Given the description of an element on the screen output the (x, y) to click on. 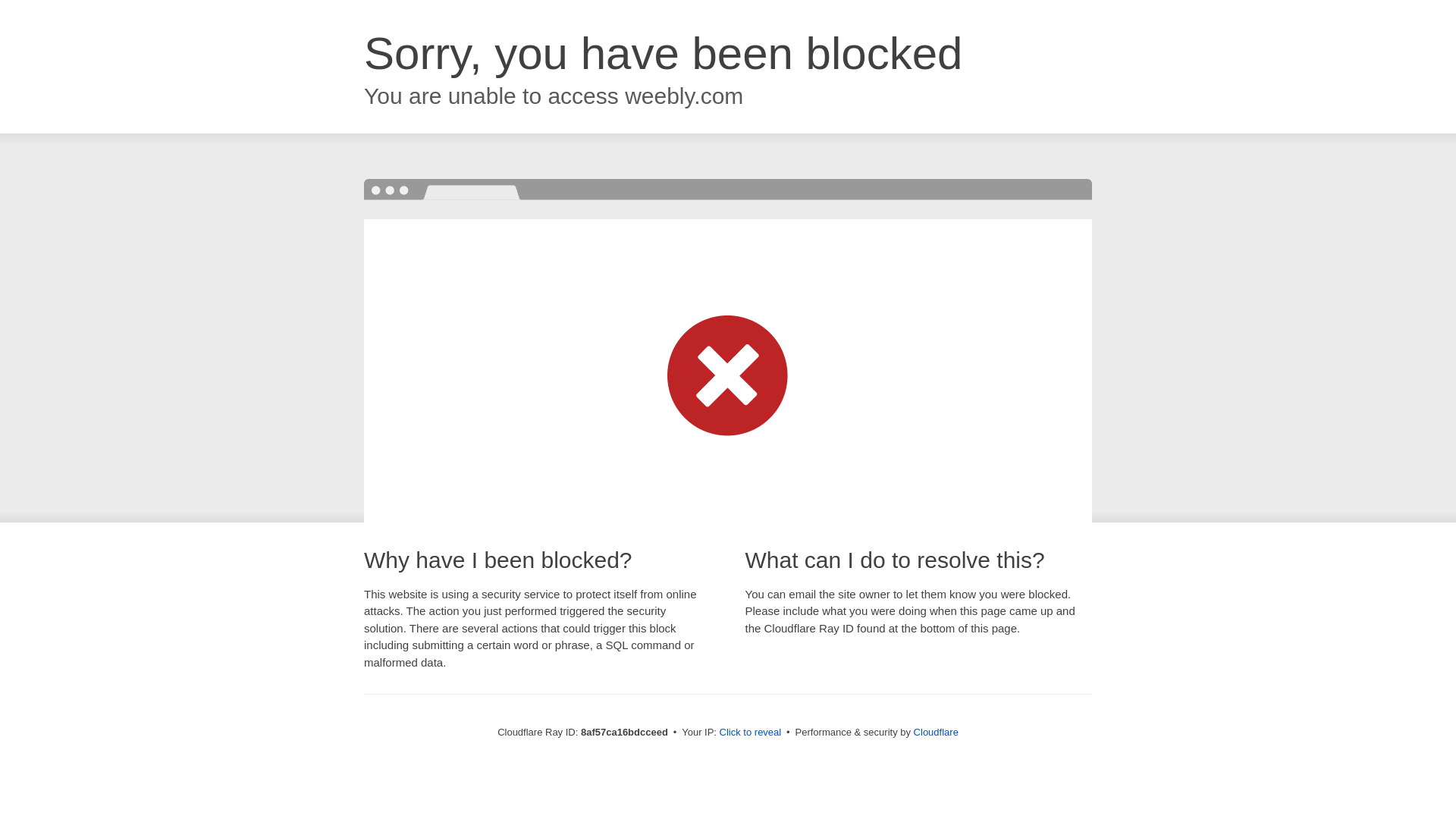
Cloudflare (936, 731)
Click to reveal (750, 732)
